Given the description of an element on the screen output the (x, y) to click on. 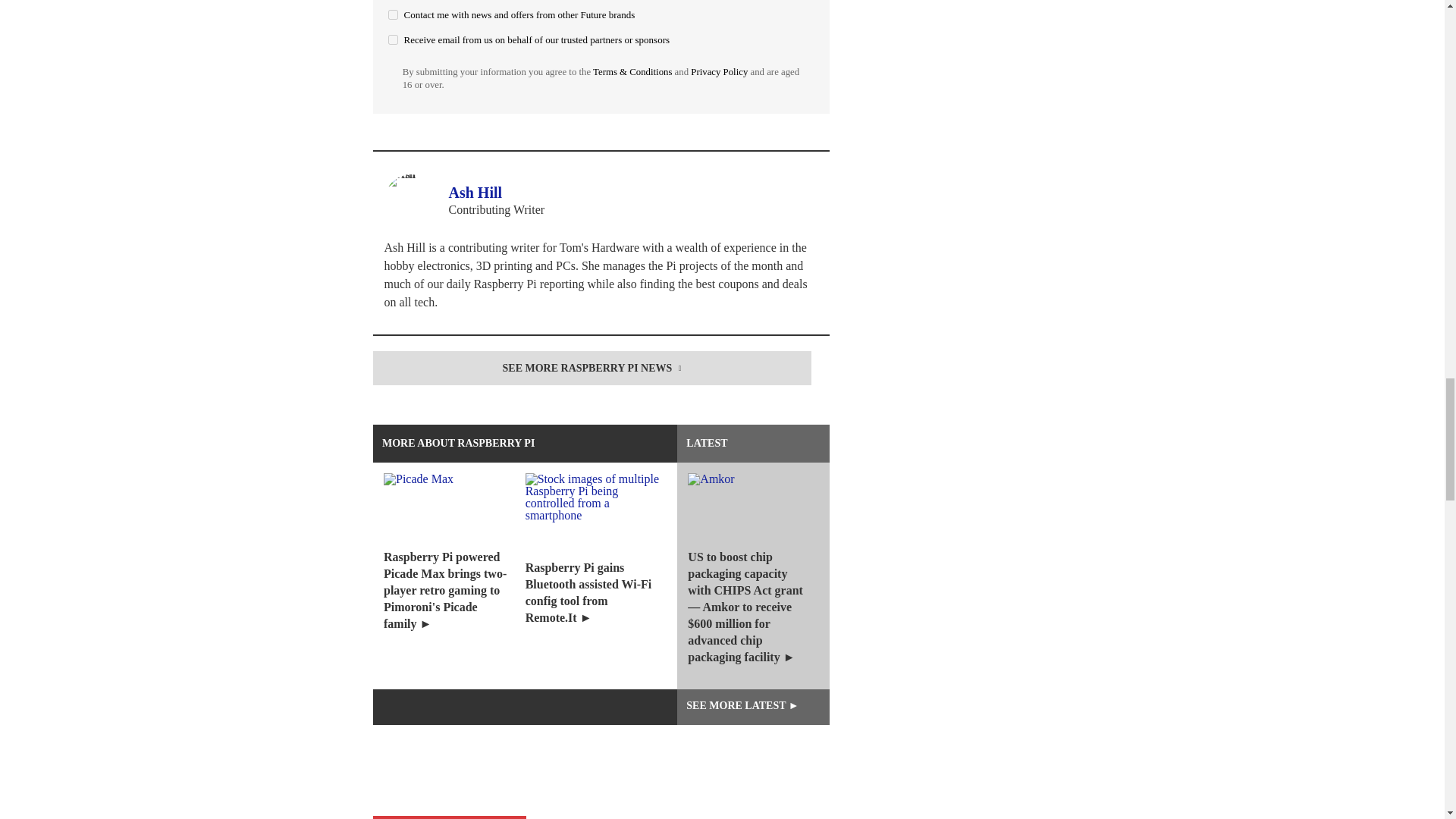
on (392, 40)
on (392, 14)
